Given the description of an element on the screen output the (x, y) to click on. 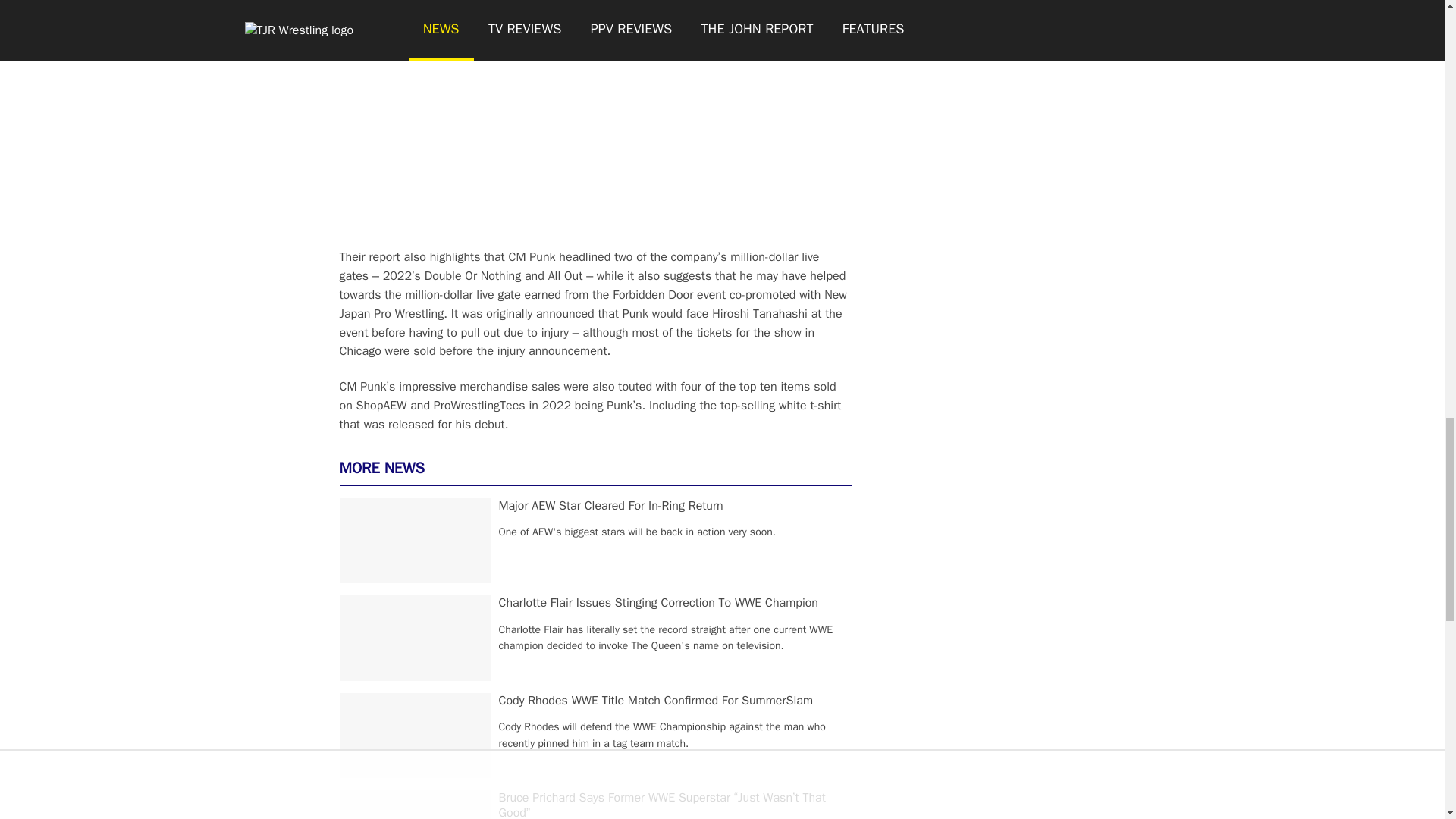
Major AEW Star Cleared For In-Ring Return (611, 505)
Cody Rhodes WWE Title Match Confirmed For SummerSlam (655, 700)
Charlotte Flair Issues Stinging Correction To WWE Champion (658, 602)
